Given the description of an element on the screen output the (x, y) to click on. 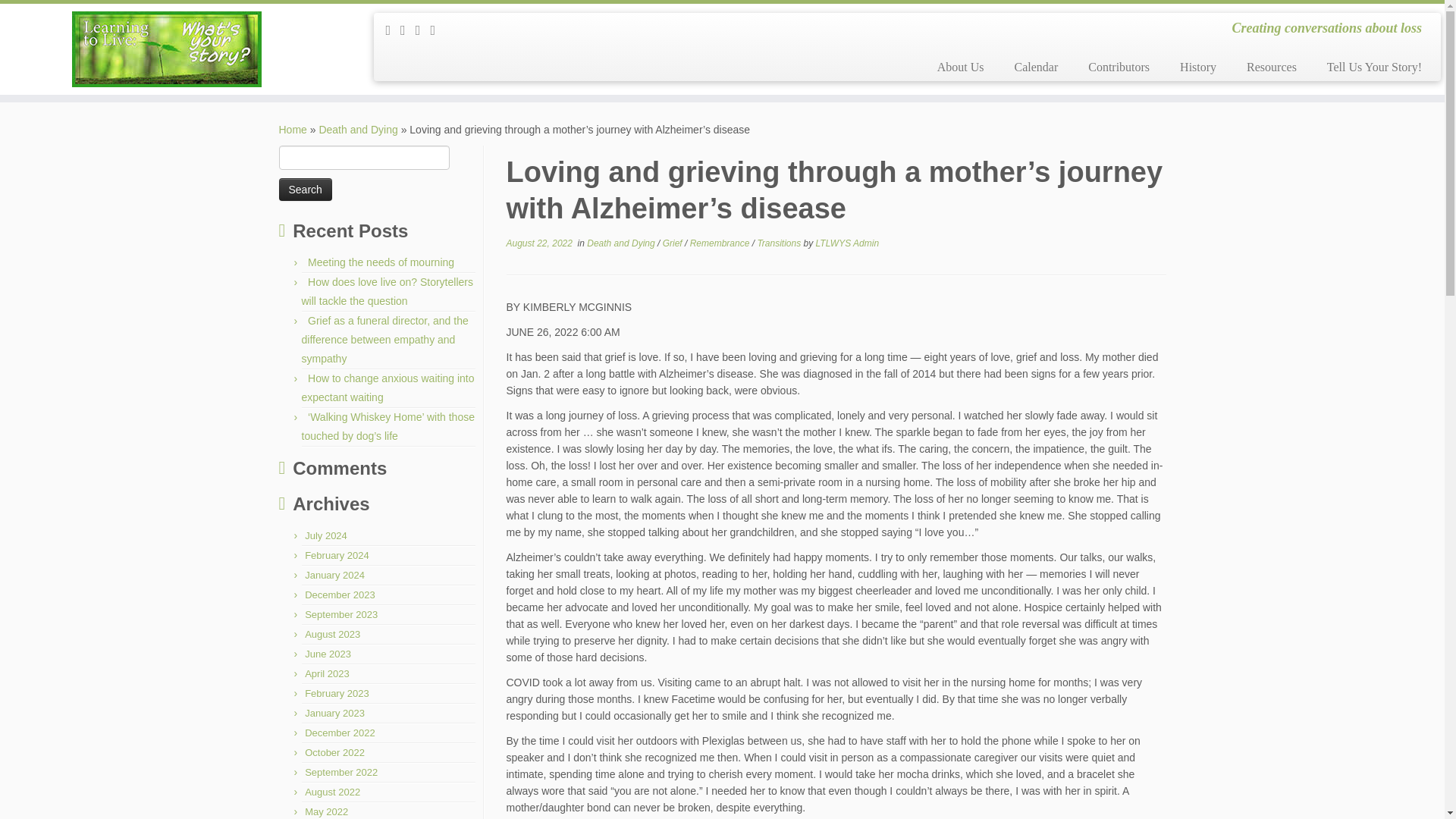
How to change anxious waiting into expectant waiting (387, 387)
April 2023 (326, 673)
Contributors (1118, 67)
12:15 am (539, 243)
September 2023 (340, 614)
Tell Us Your Story! (1366, 67)
December 2022 (339, 732)
View all posts in Remembrance (721, 243)
August 2022 (331, 791)
Meeting the needs of mourning (380, 262)
September 2022 (340, 772)
January 2024 (334, 574)
February 2023 (336, 693)
February 2024 (336, 555)
Follow me on Twitter (422, 29)
